Given the description of an element on the screen output the (x, y) to click on. 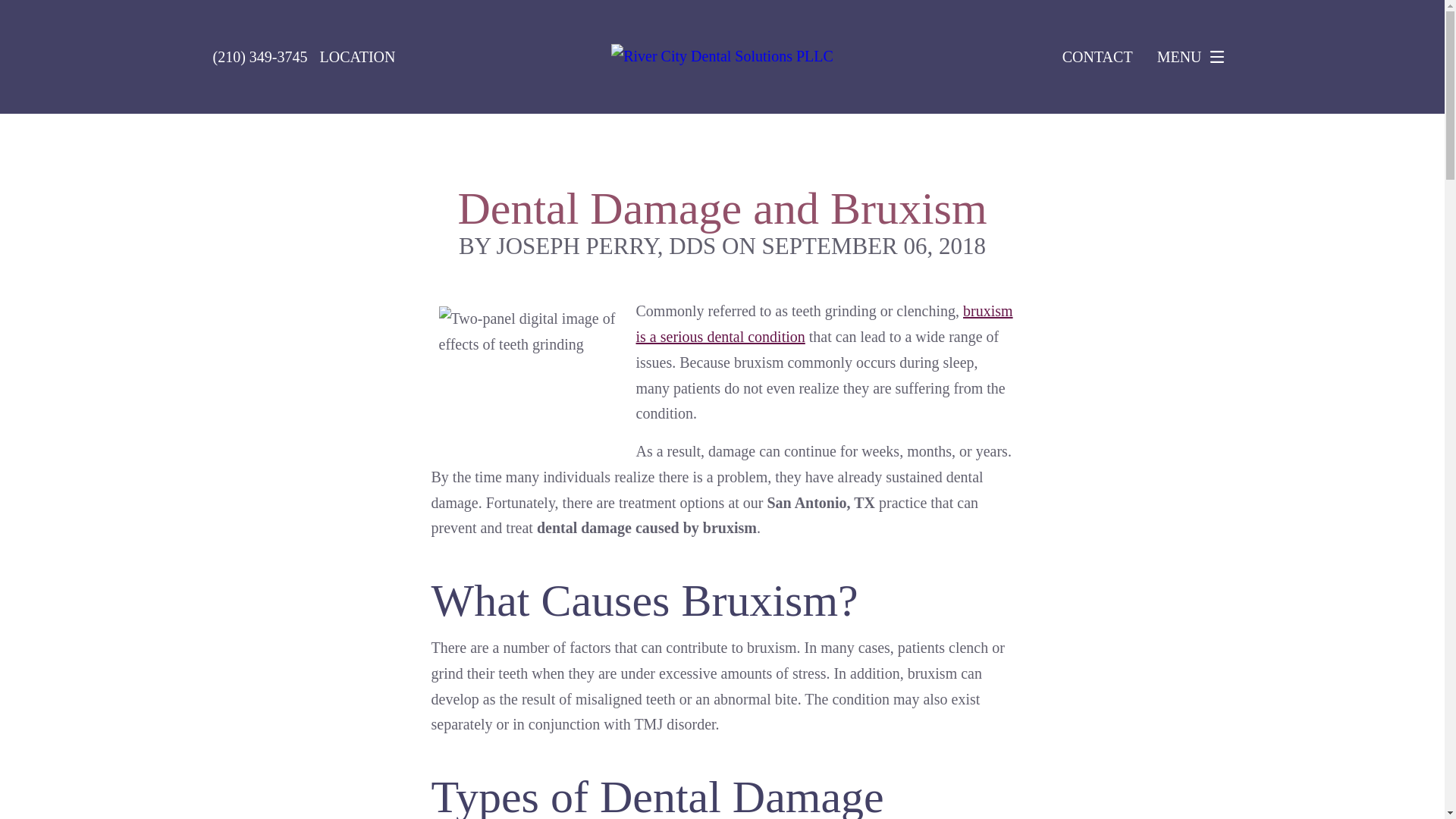
CONTACT (1097, 56)
bruxism is a serious dental condition (822, 323)
MENU (1194, 56)
LOCATION (356, 56)
